Given the description of an element on the screen output the (x, y) to click on. 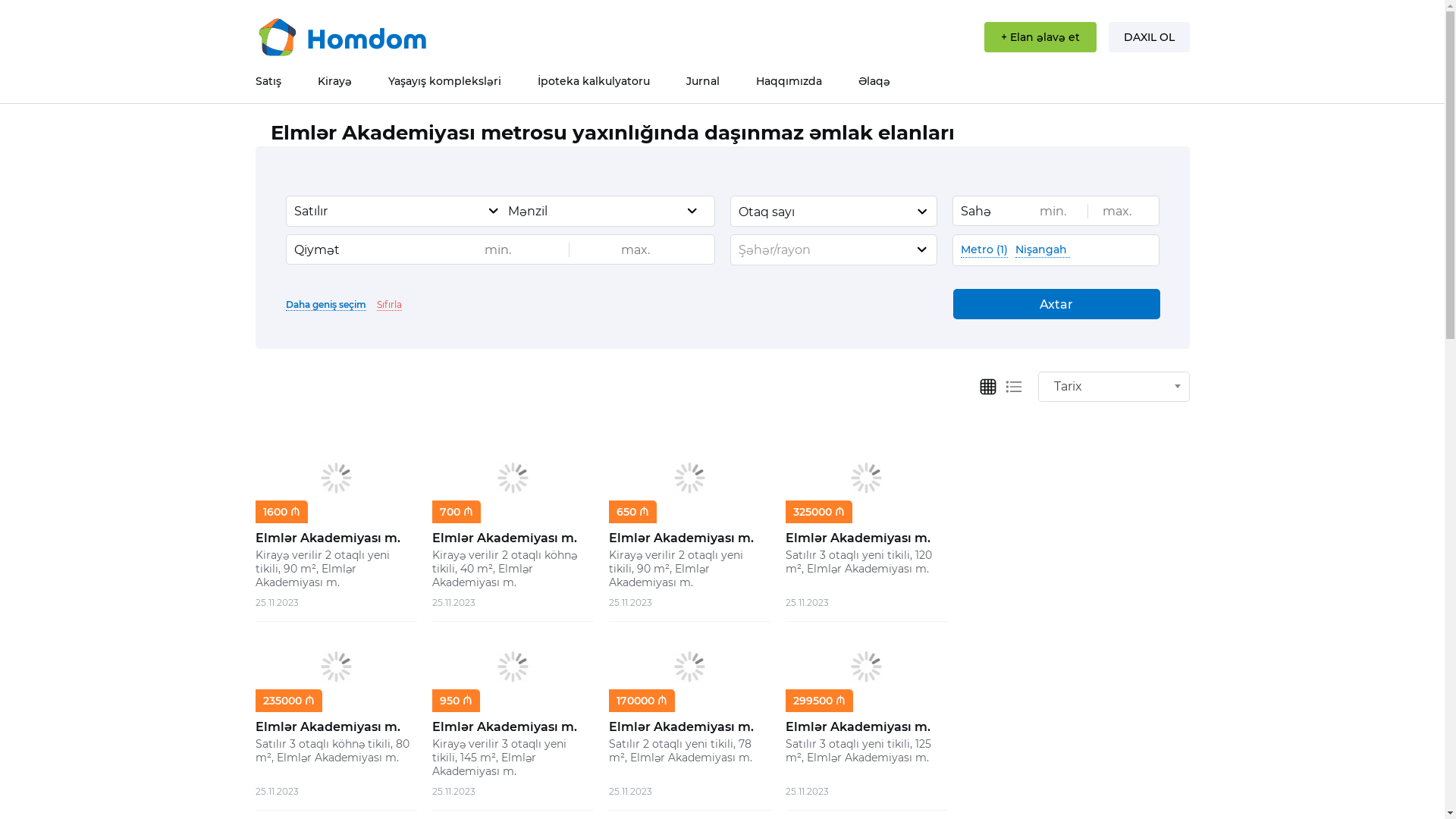
Jurnal Element type: text (701, 80)
DAXIL OL Element type: text (1148, 36)
Metro (1) Element type: text (983, 249)
Axtar Element type: text (1055, 303)
